Given the description of an element on the screen output the (x, y) to click on. 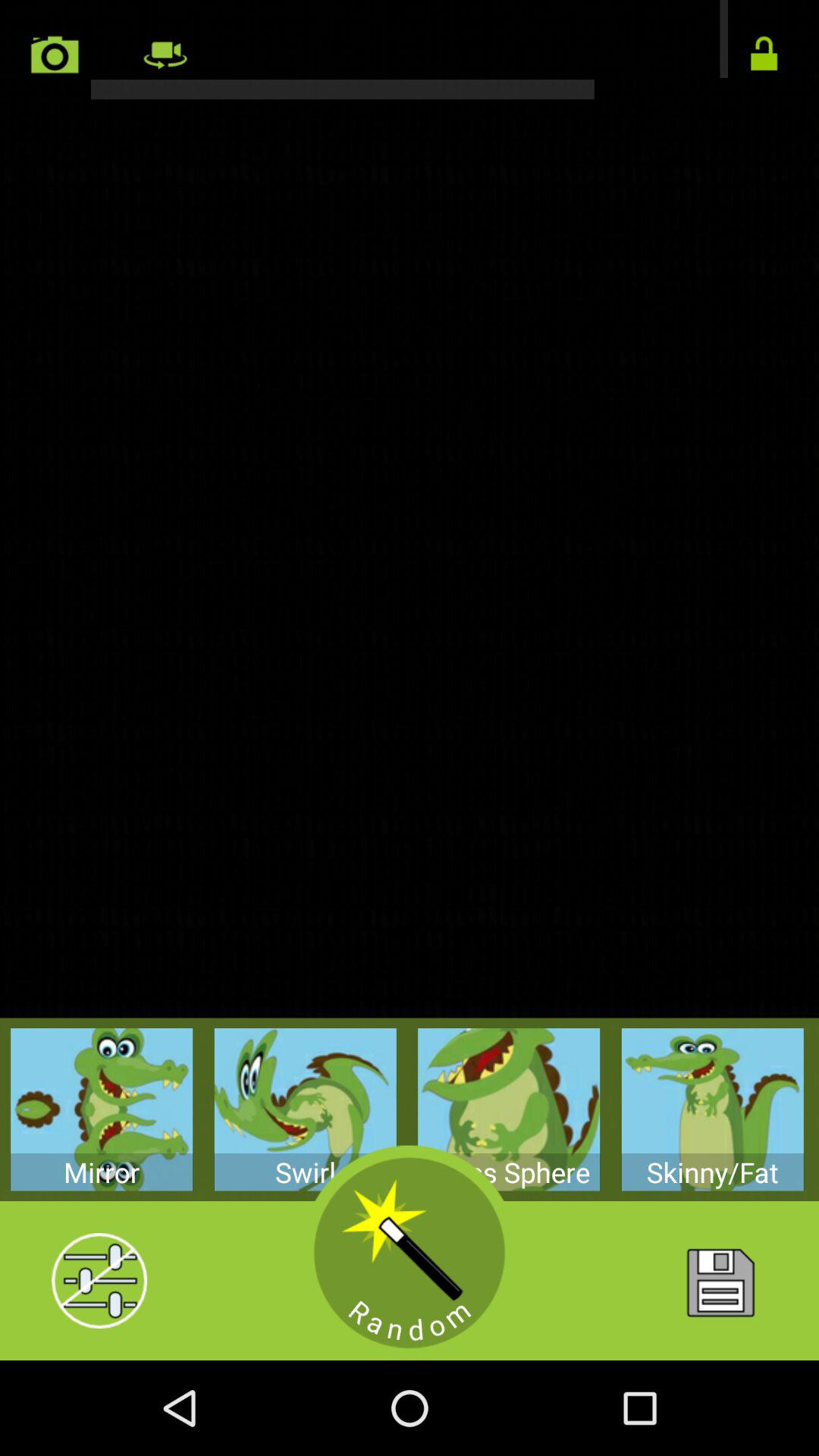
lock/unlock (764, 54)
